Given the description of an element on the screen output the (x, y) to click on. 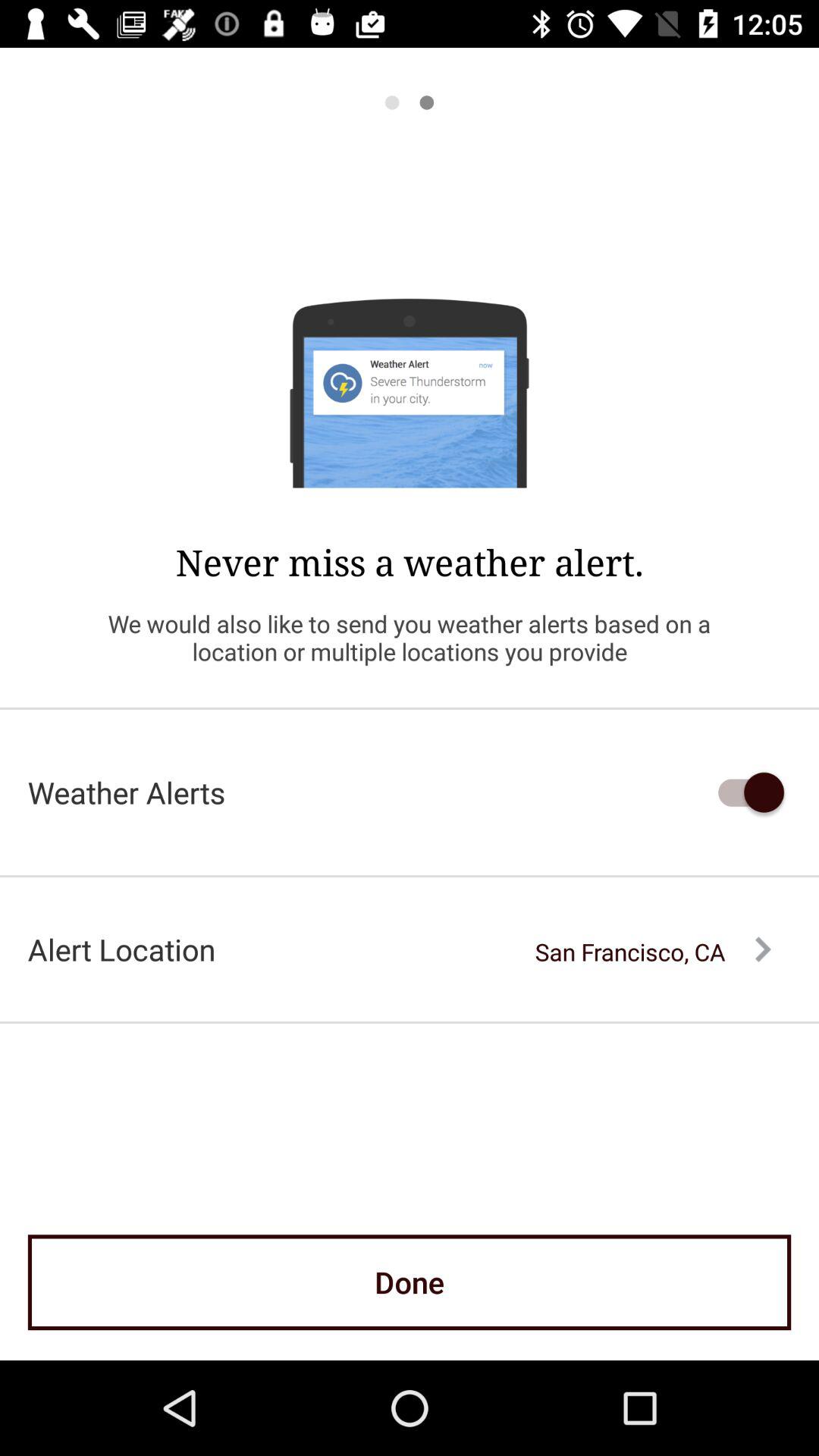
open item to the right of the alert location icon (653, 951)
